Given the description of an element on the screen output the (x, y) to click on. 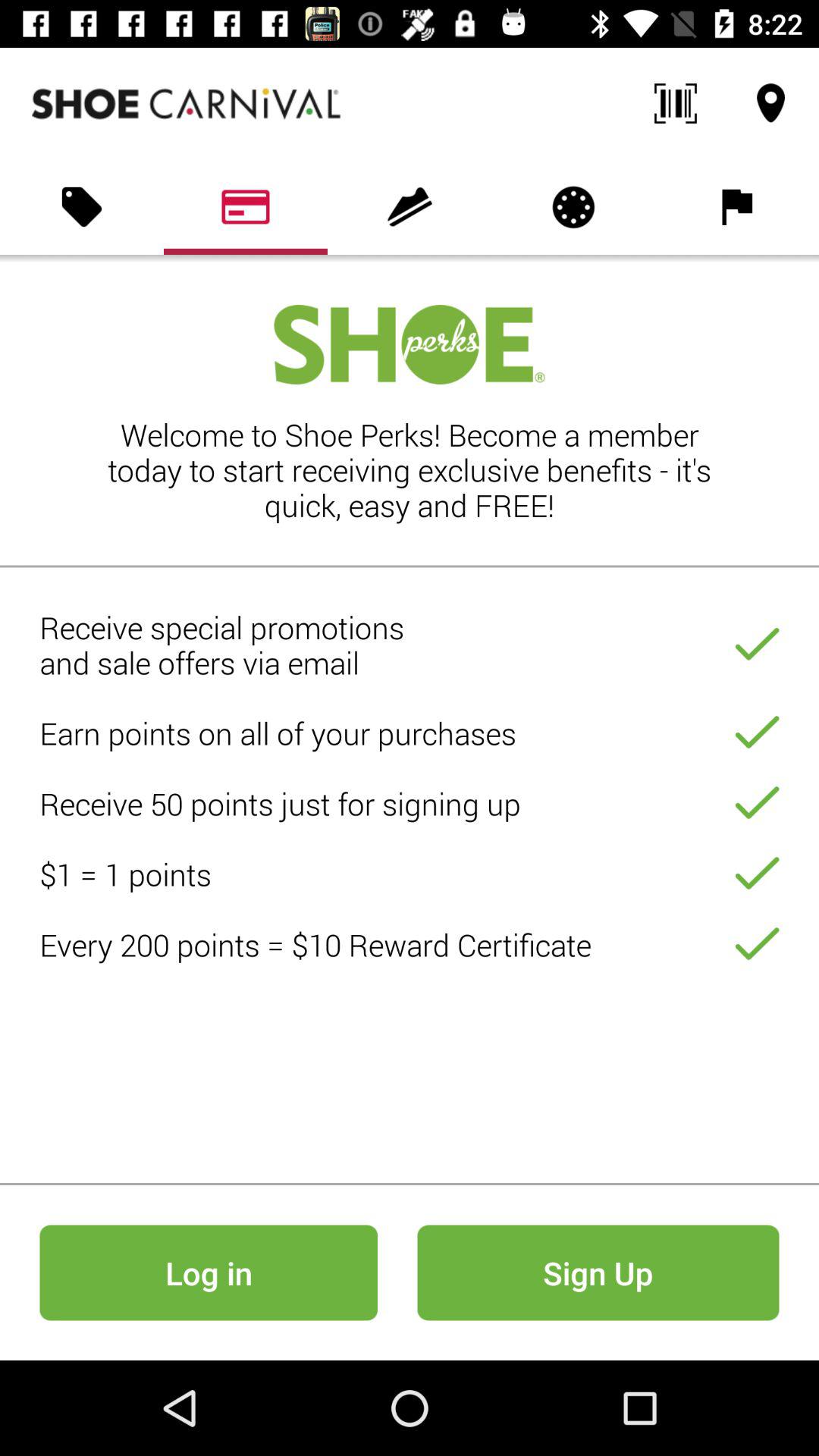
flip until the log in (208, 1272)
